Given the description of an element on the screen output the (x, y) to click on. 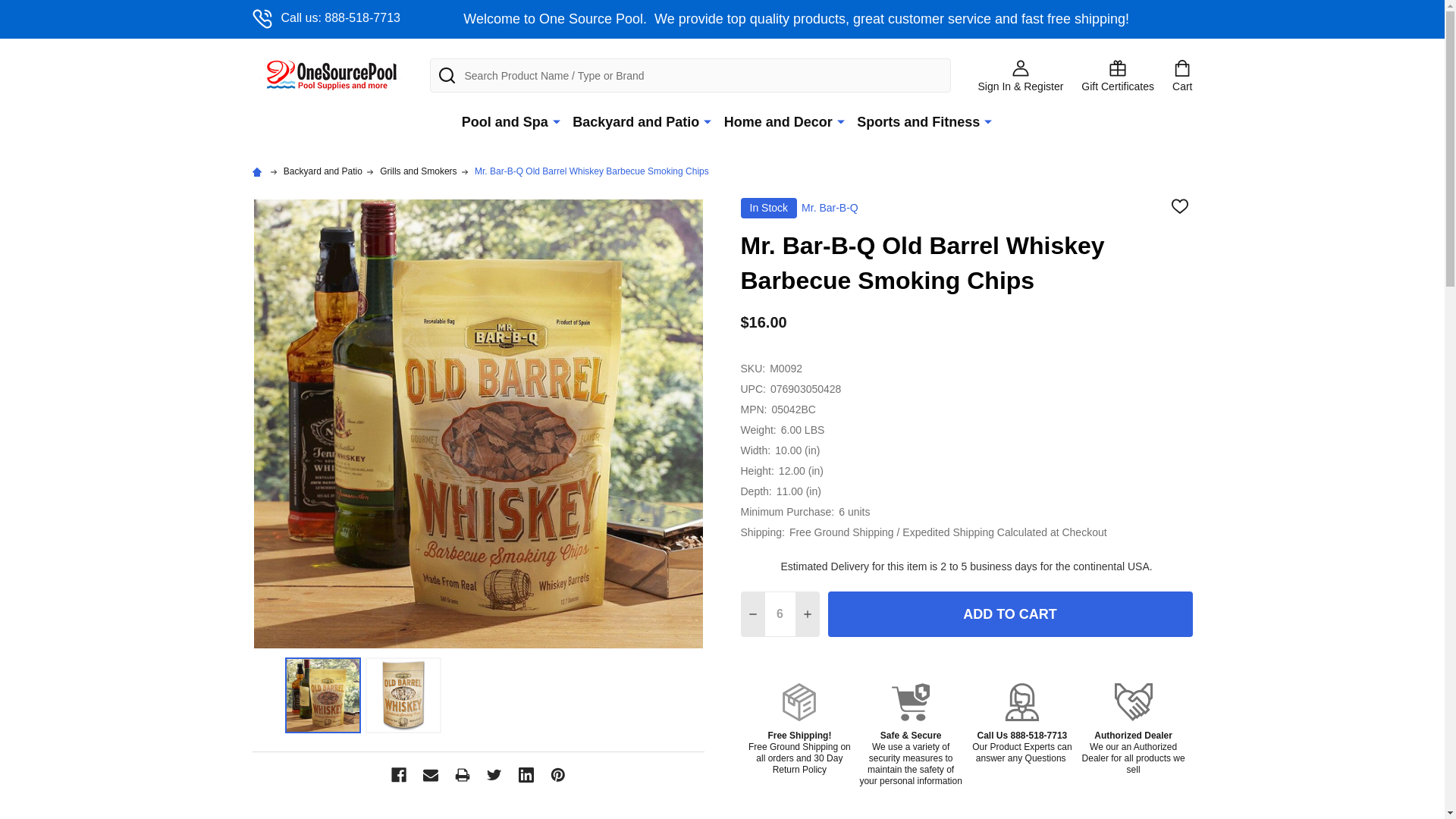
Gift Certificates (1117, 74)
OneSourcePool (330, 74)
Pool and Spa (501, 121)
Gift Certificates (1117, 74)
Call us: 888-518-7713 (324, 17)
